Given the description of an element on the screen output the (x, y) to click on. 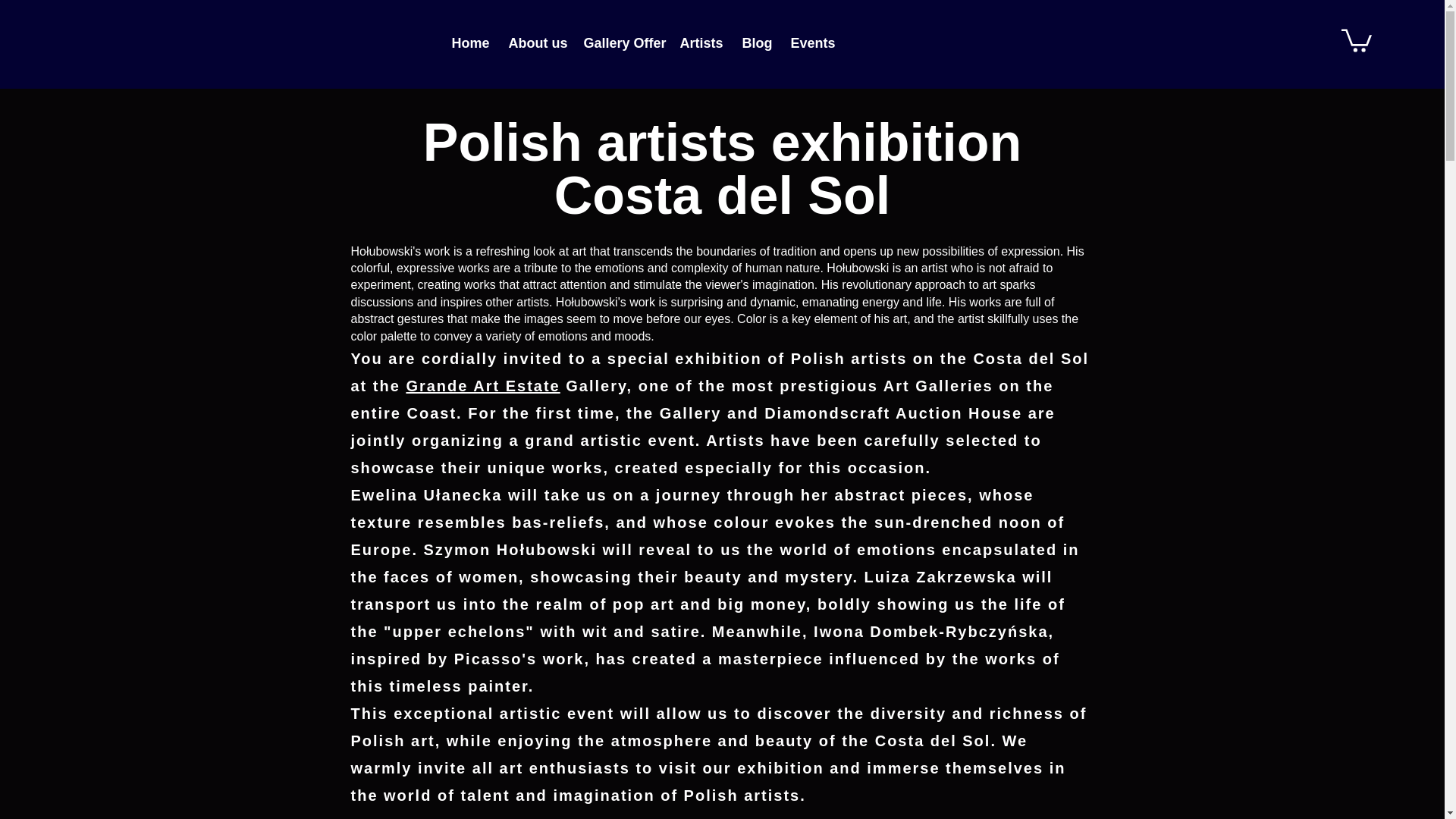
About us (534, 43)
Blog (754, 43)
Gallery Offer (620, 43)
Events (809, 43)
Artists (699, 43)
Home (467, 43)
Grande Art Estate (482, 385)
